Given the description of an element on the screen output the (x, y) to click on. 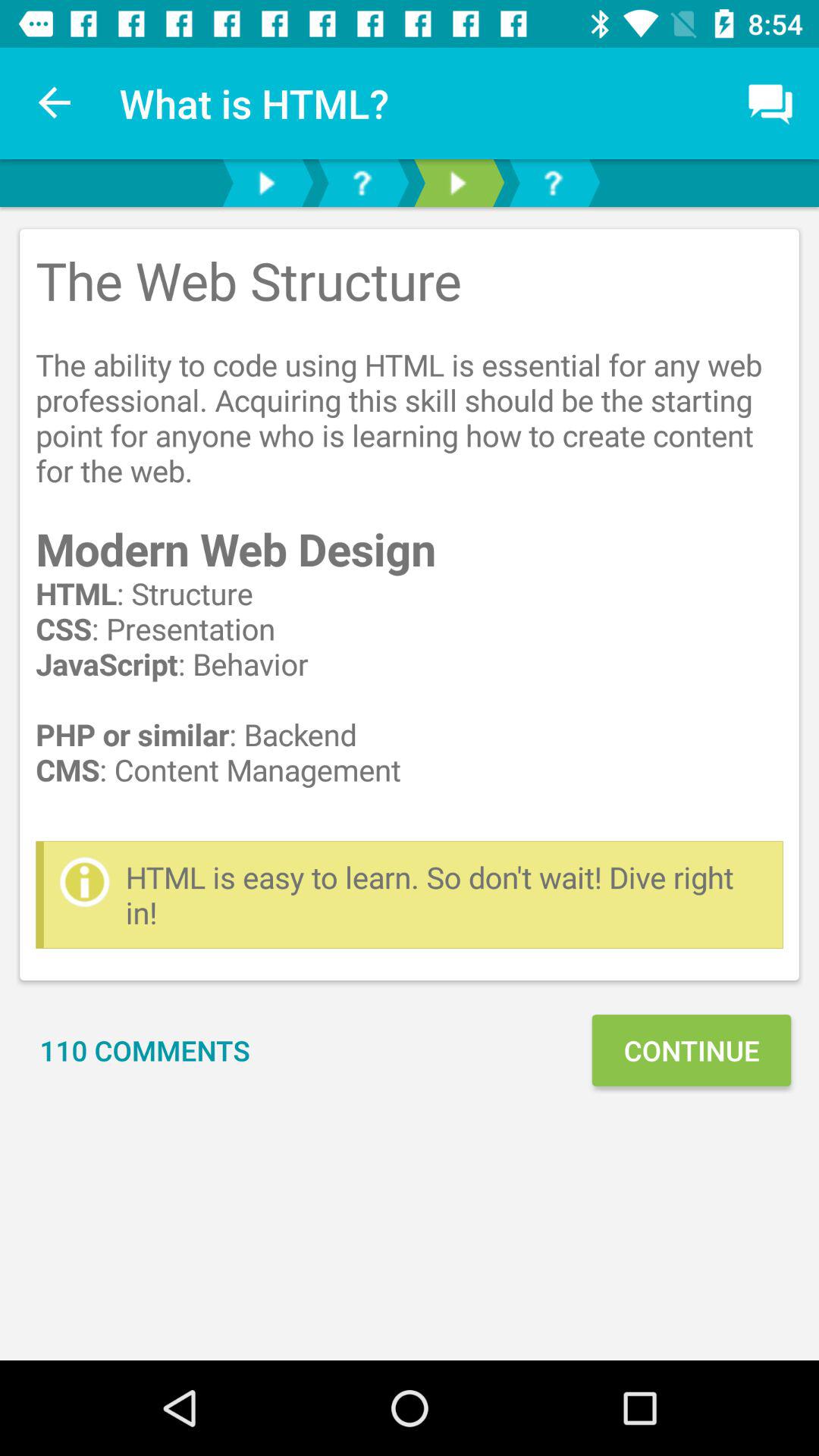
see next page (265, 183)
